Given the description of an element on the screen output the (x, y) to click on. 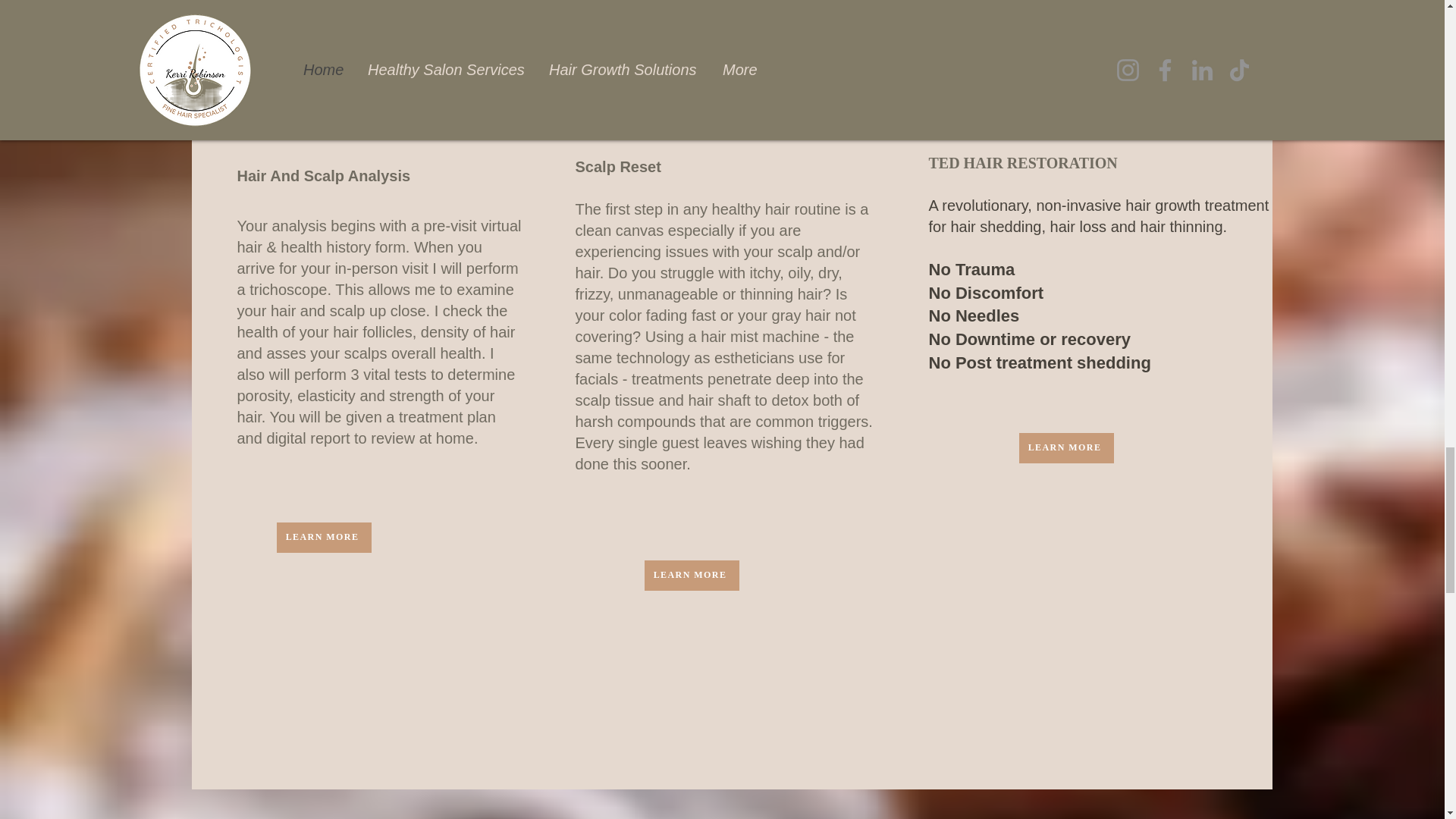
LEARN MORE (323, 537)
LEARN MORE (692, 575)
LEARN MORE (1066, 448)
